Given the description of an element on the screen output the (x, y) to click on. 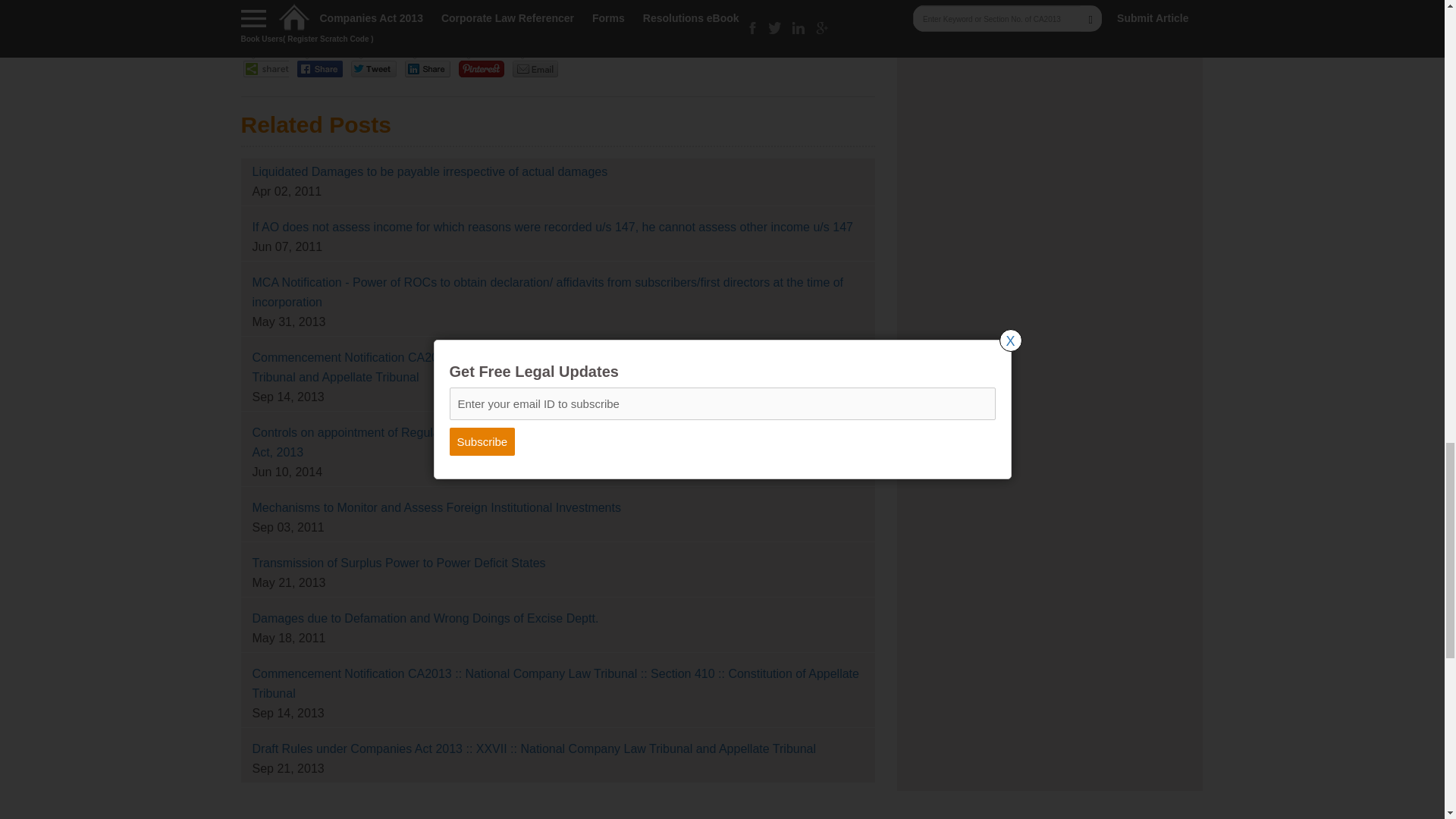
Share on Pinterest (481, 67)
Share on Linkedin (427, 67)
Share on Sharethis (266, 67)
Share on Email (535, 67)
Share on Facebook (320, 67)
Share on Twitter (373, 67)
